Given the description of an element on the screen output the (x, y) to click on. 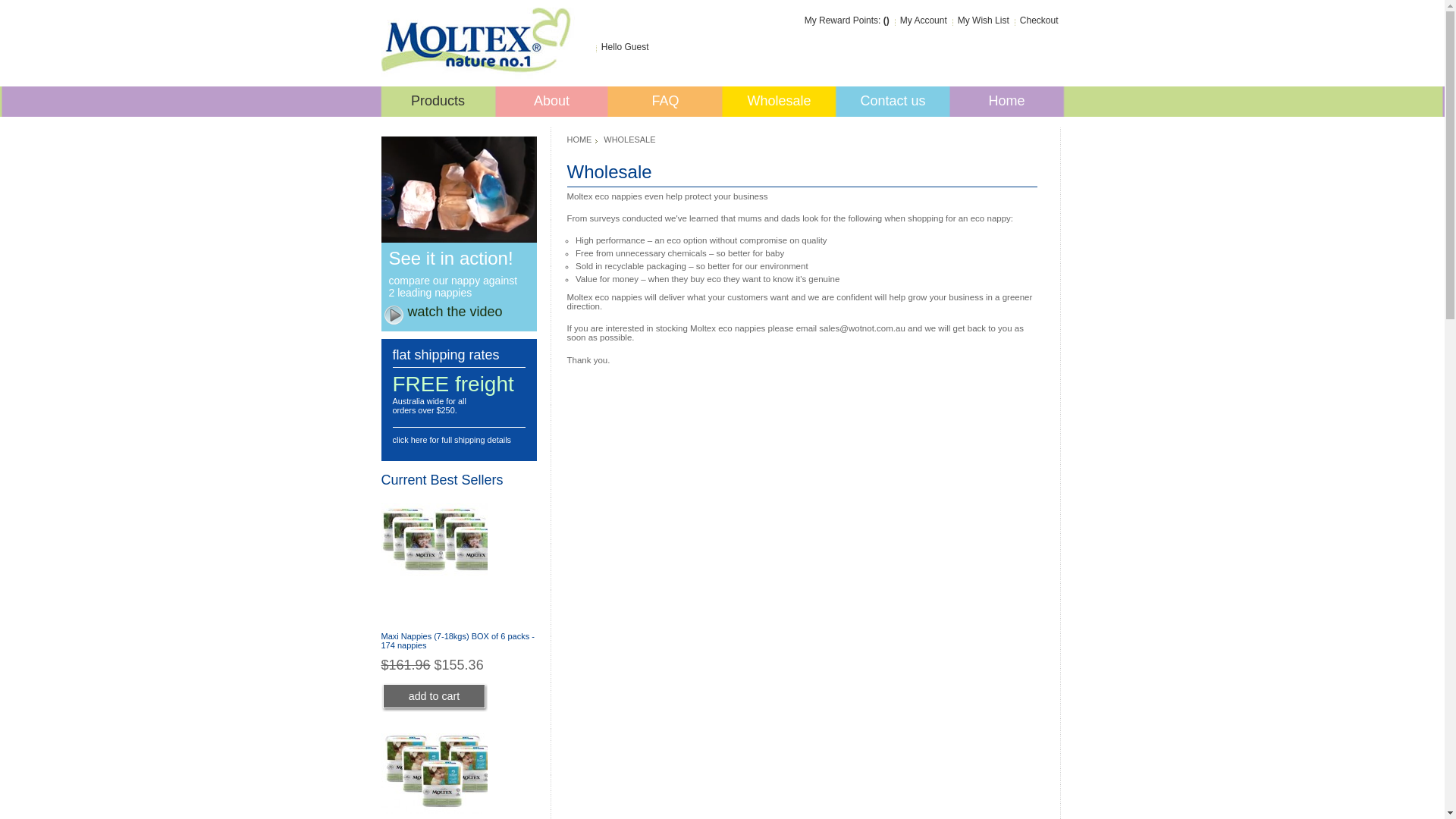
add to cart Element type: text (433, 695)
click here for full shipping details Element type: text (451, 439)
Checkout Element type: text (1038, 20)
FAQ Element type: text (664, 105)
HOME Element type: text (582, 139)
My Account Element type: text (923, 20)
Wholesale Element type: text (778, 105)
Maxi Nappies (7-18kgs) BOX of 6 packs - 174 nappies Element type: text (458, 640)
Contact us Element type: text (892, 105)
watch the video Element type: text (454, 311)
About Element type: text (551, 105)
Home Element type: text (1006, 105)
My Wish List Element type: text (983, 20)
Products Element type: text (437, 101)
